Given the description of an element on the screen output the (x, y) to click on. 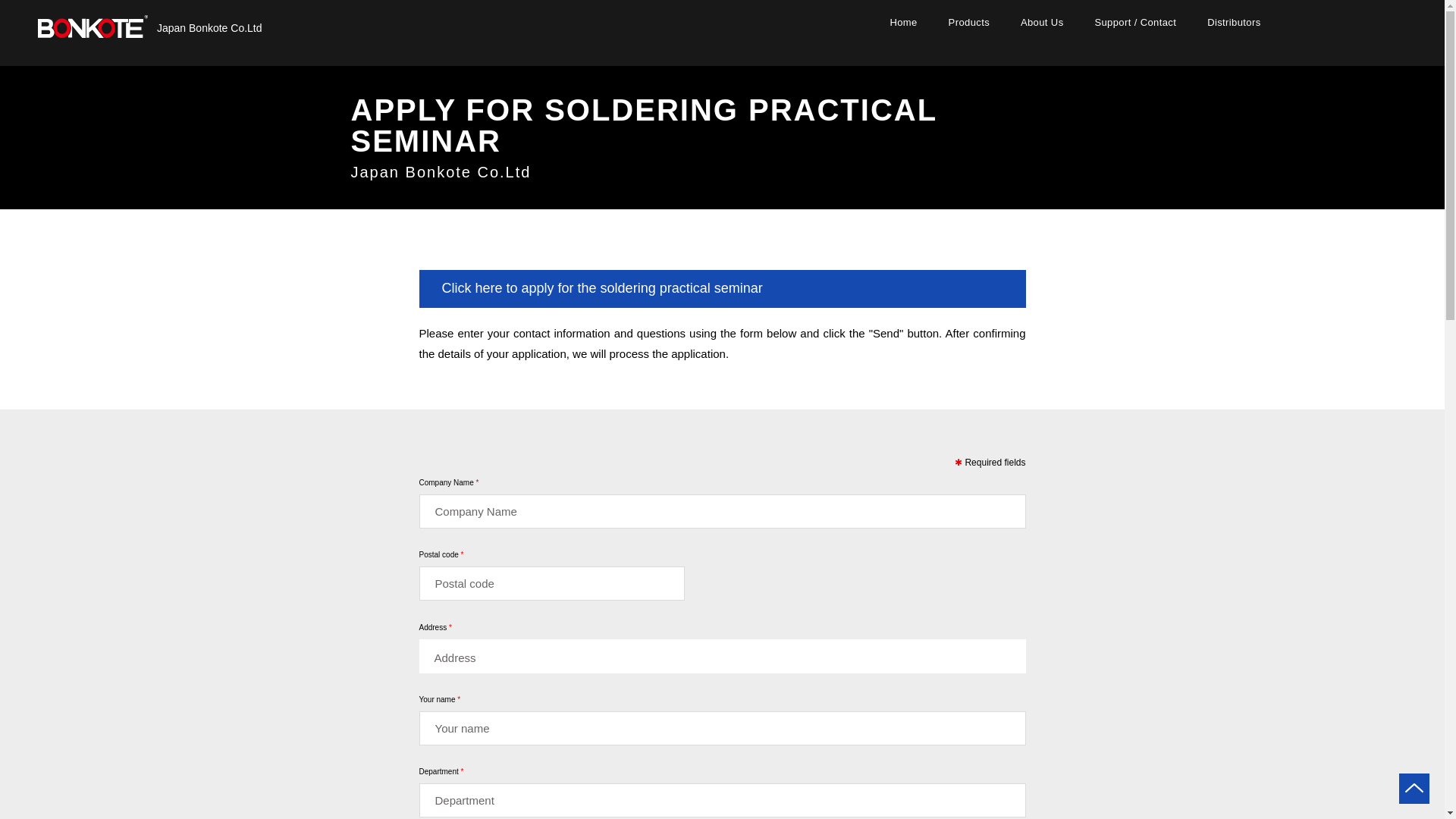
Home (904, 21)
About Us (1041, 21)
Japan Bonkote Co.Ltd (209, 28)
